Given the description of an element on the screen output the (x, y) to click on. 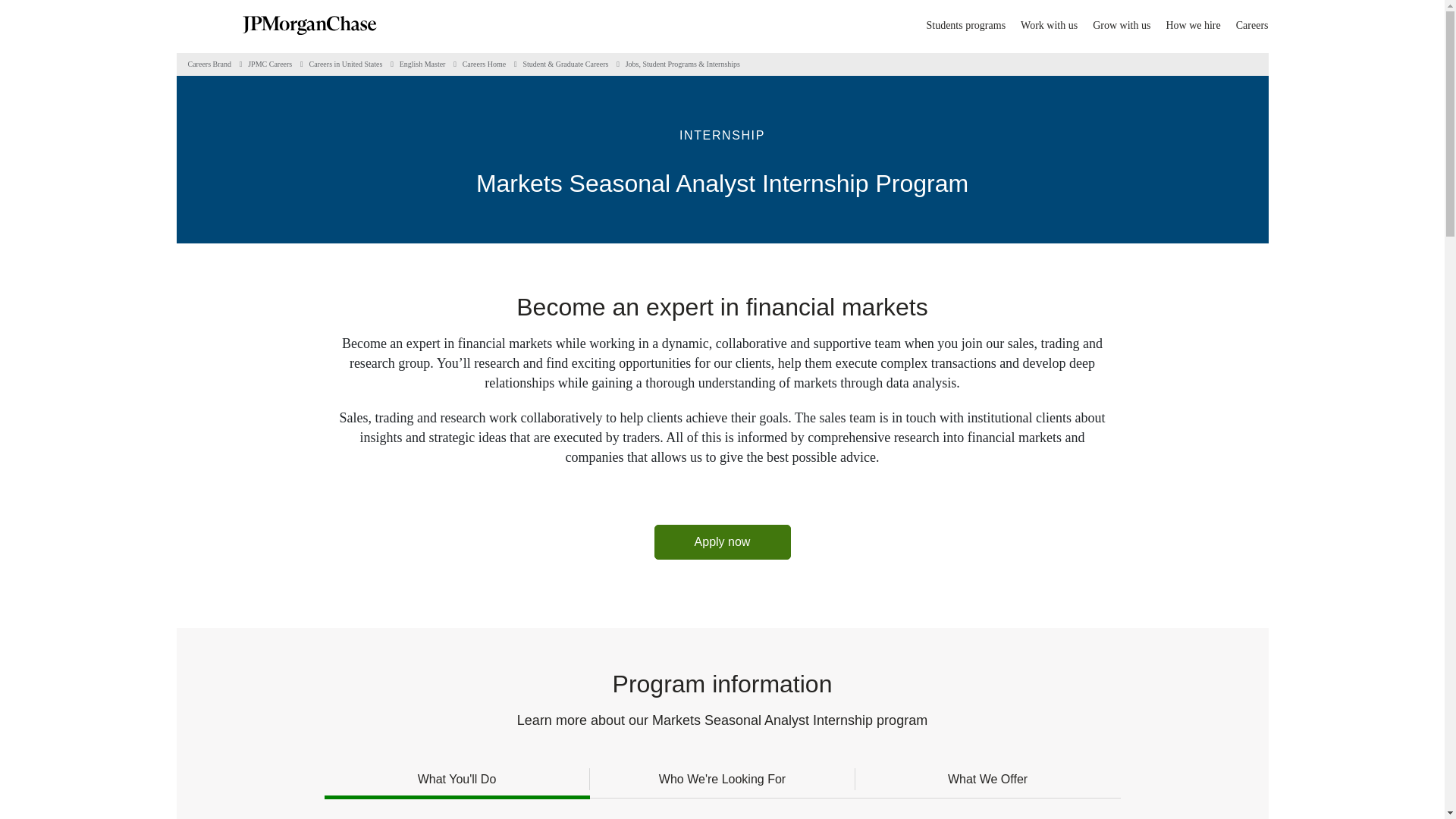
Careers Brand (209, 64)
INTERNSHIP (721, 136)
Careers Home (484, 64)
English Master (421, 64)
Work with us (1048, 24)
JPMC Careers (269, 64)
Students programs (966, 24)
Apply now (721, 541)
Careers in United States (344, 64)
